Given the description of an element on the screen output the (x, y) to click on. 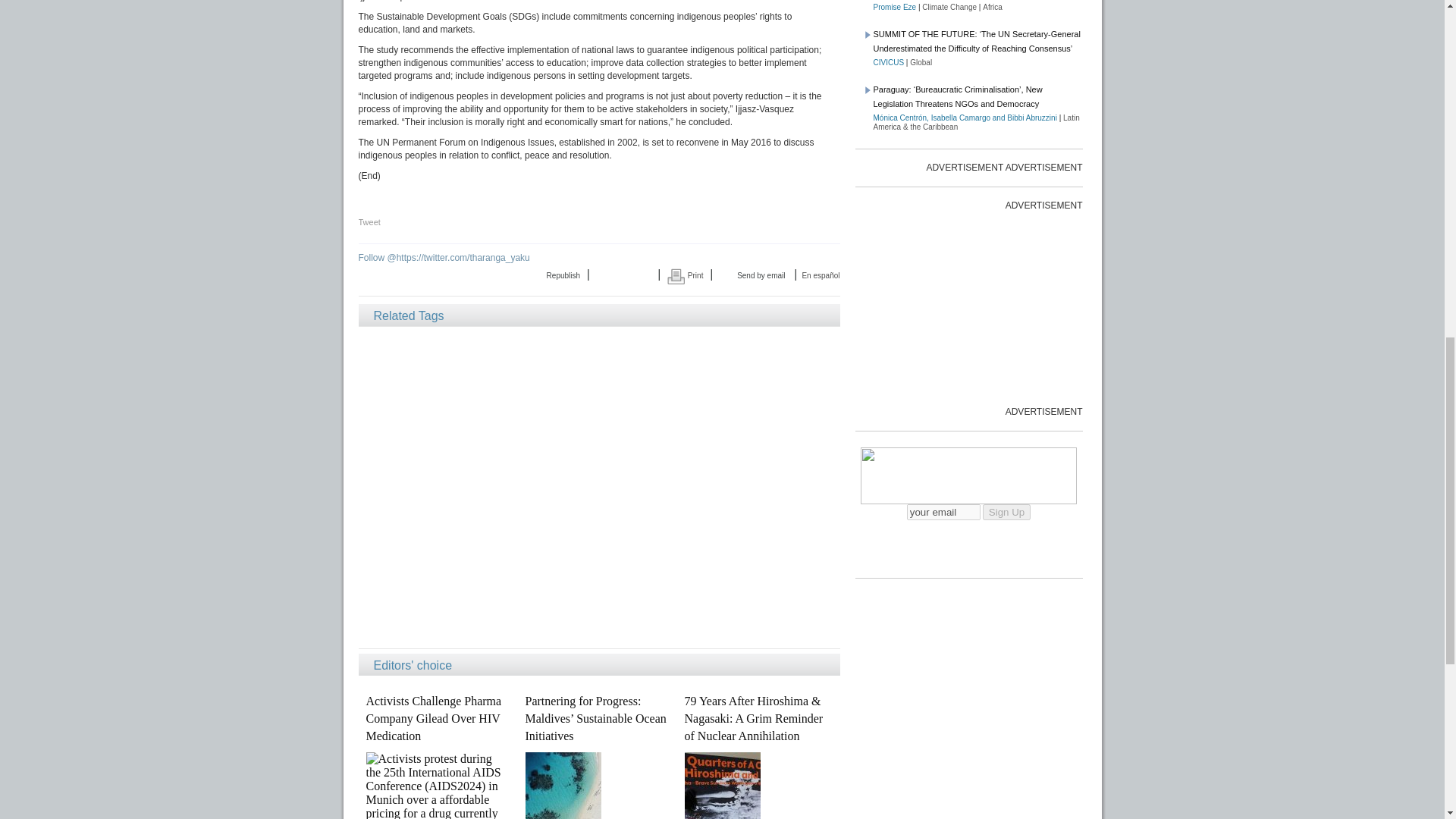
Advertisement (969, 307)
Sign Up (1006, 512)
Posts by Promise Eze (895, 7)
Posts by CIVICUS (888, 62)
your email (943, 512)
